Given the description of an element on the screen output the (x, y) to click on. 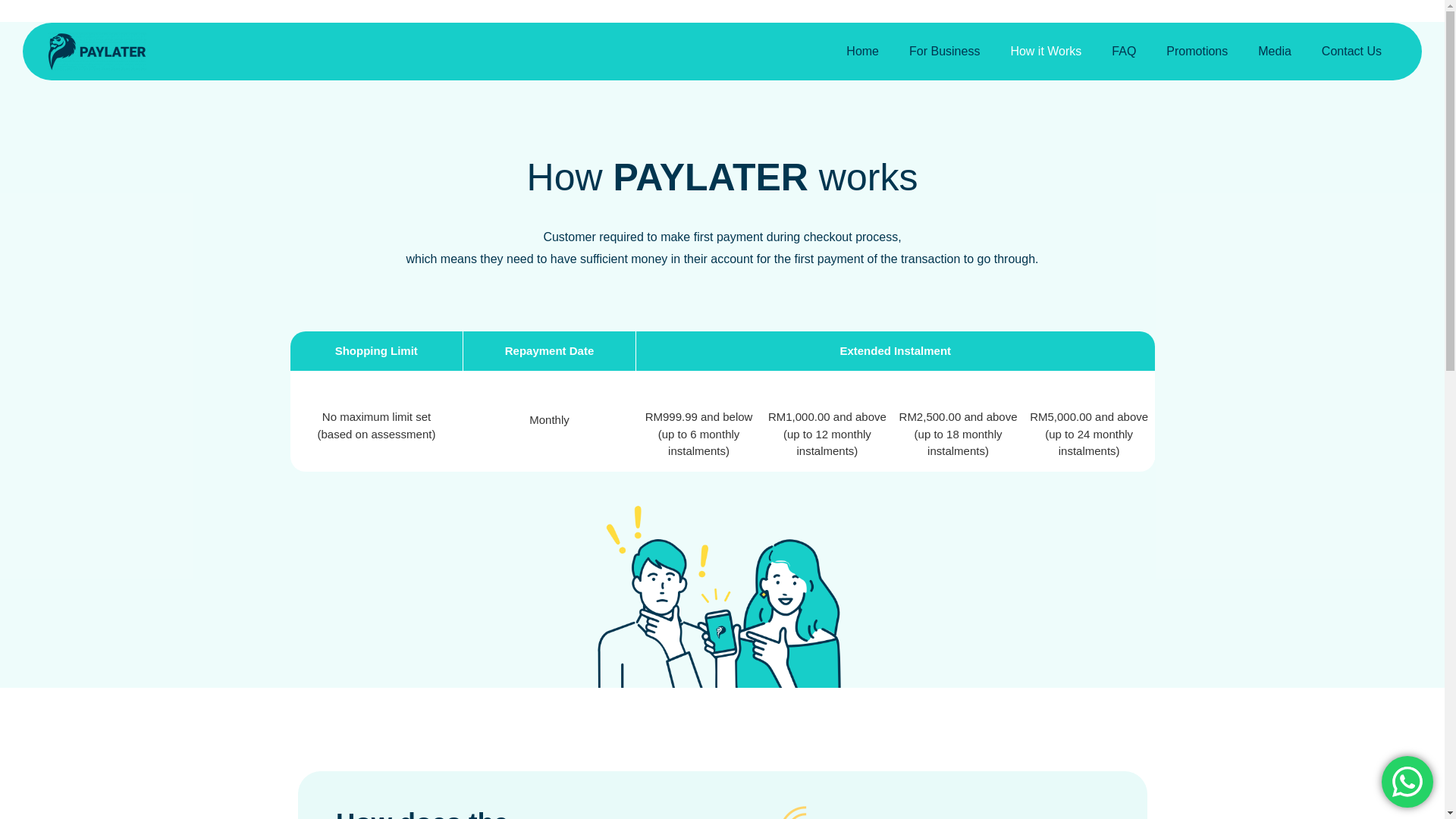
Contact Us (1351, 51)
Promotions (1197, 51)
How it Works (1045, 51)
For Business (943, 51)
Home (862, 51)
FAQ (1123, 51)
Media (1274, 51)
Contact us (1406, 781)
